Given the description of an element on the screen output the (x, y) to click on. 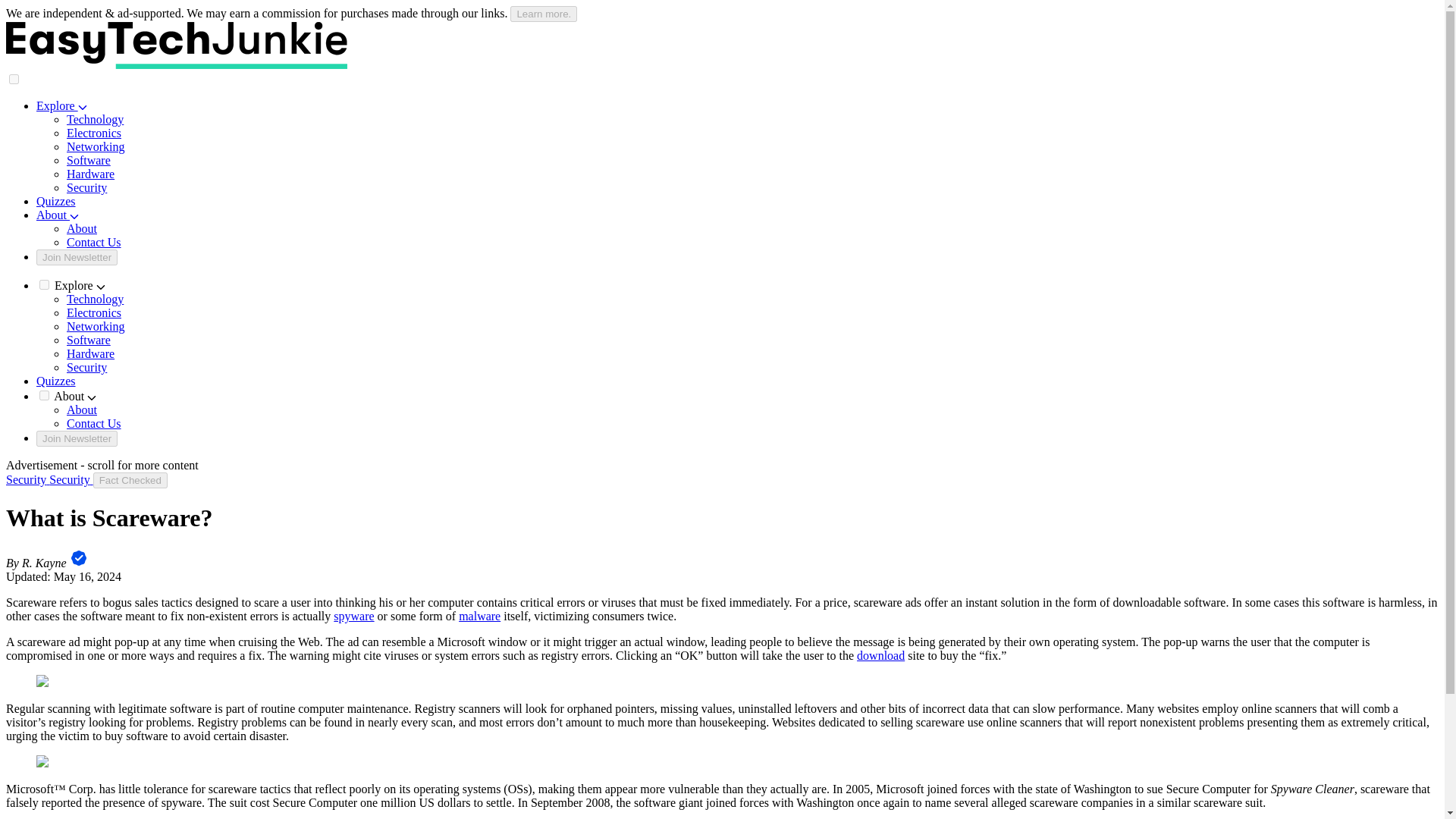
on (13, 79)
Hardware (90, 173)
Security Security (49, 479)
spyware (353, 615)
Networking (94, 326)
Fact Checked (130, 480)
Learn more. (543, 13)
Software (88, 339)
About (81, 409)
Technology (94, 119)
Networking (94, 146)
Software (88, 160)
Electronics (93, 312)
Contact Us (93, 241)
About (81, 228)
